Given the description of an element on the screen output the (x, y) to click on. 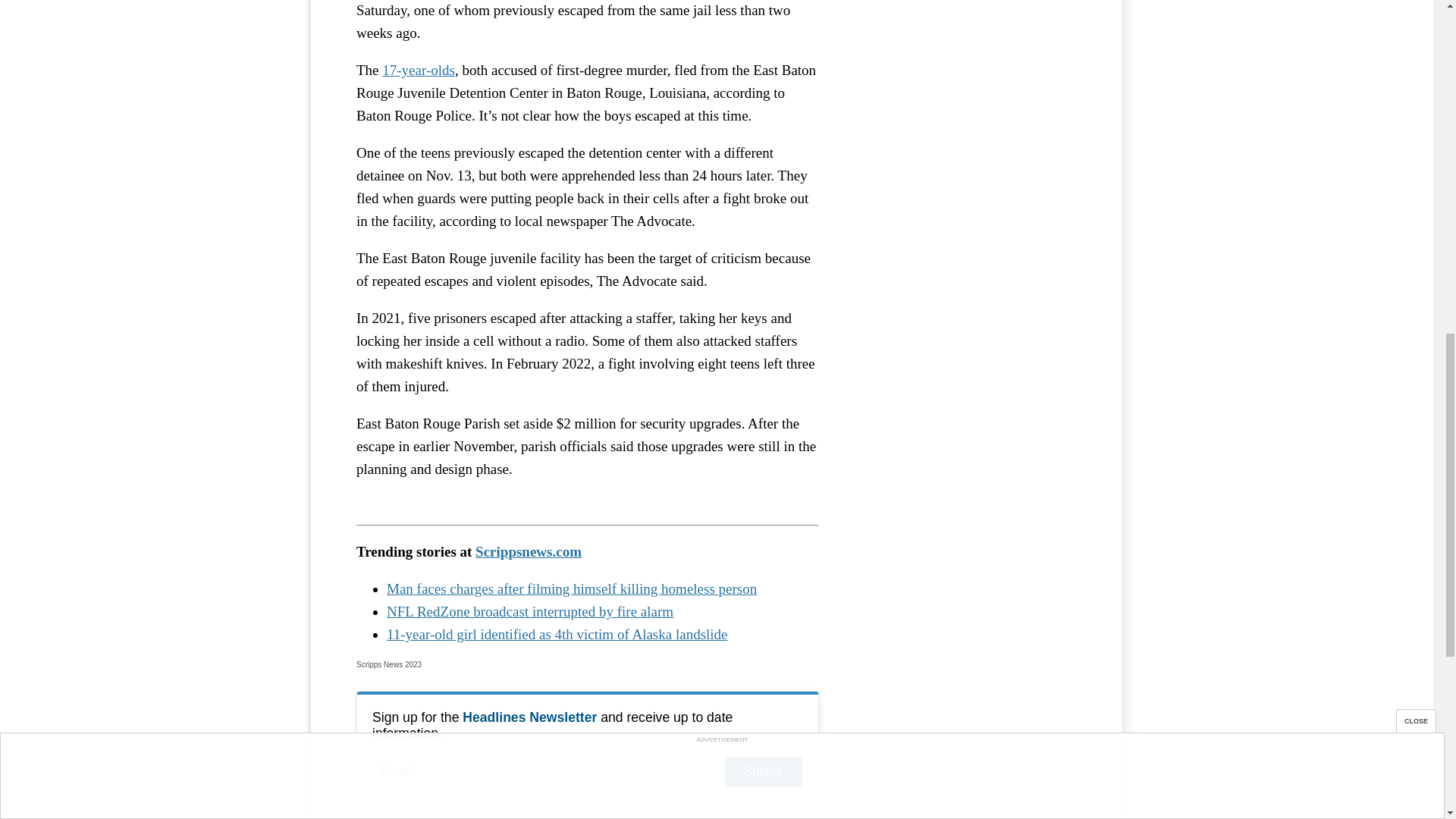
Submit (763, 771)
3rd party ad content (962, 54)
